Given the description of an element on the screen output the (x, y) to click on. 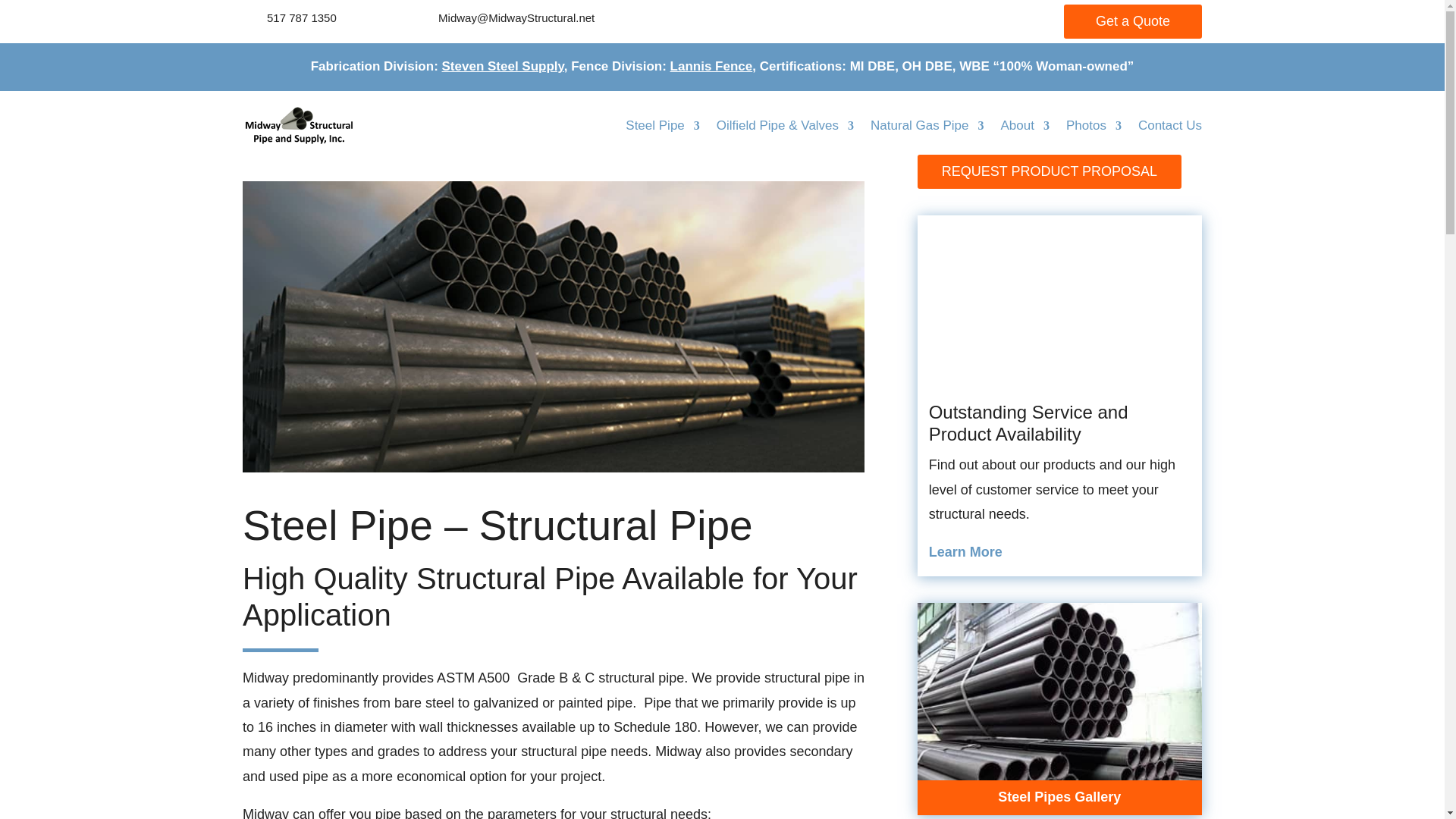
Steel Pipes Gallery (1059, 796)
Steven Steel Supply (503, 65)
Photos (1093, 125)
REQUEST PRODUCT PROPOSAL (1048, 171)
Contact Us (1170, 125)
Lannis Fence (710, 65)
Get a Quote (1133, 21)
Natural Gas Pipe (927, 125)
Learn More (965, 551)
517 787 1350 (301, 17)
Steel Pipe (663, 125)
